Given the description of an element on the screen output the (x, y) to click on. 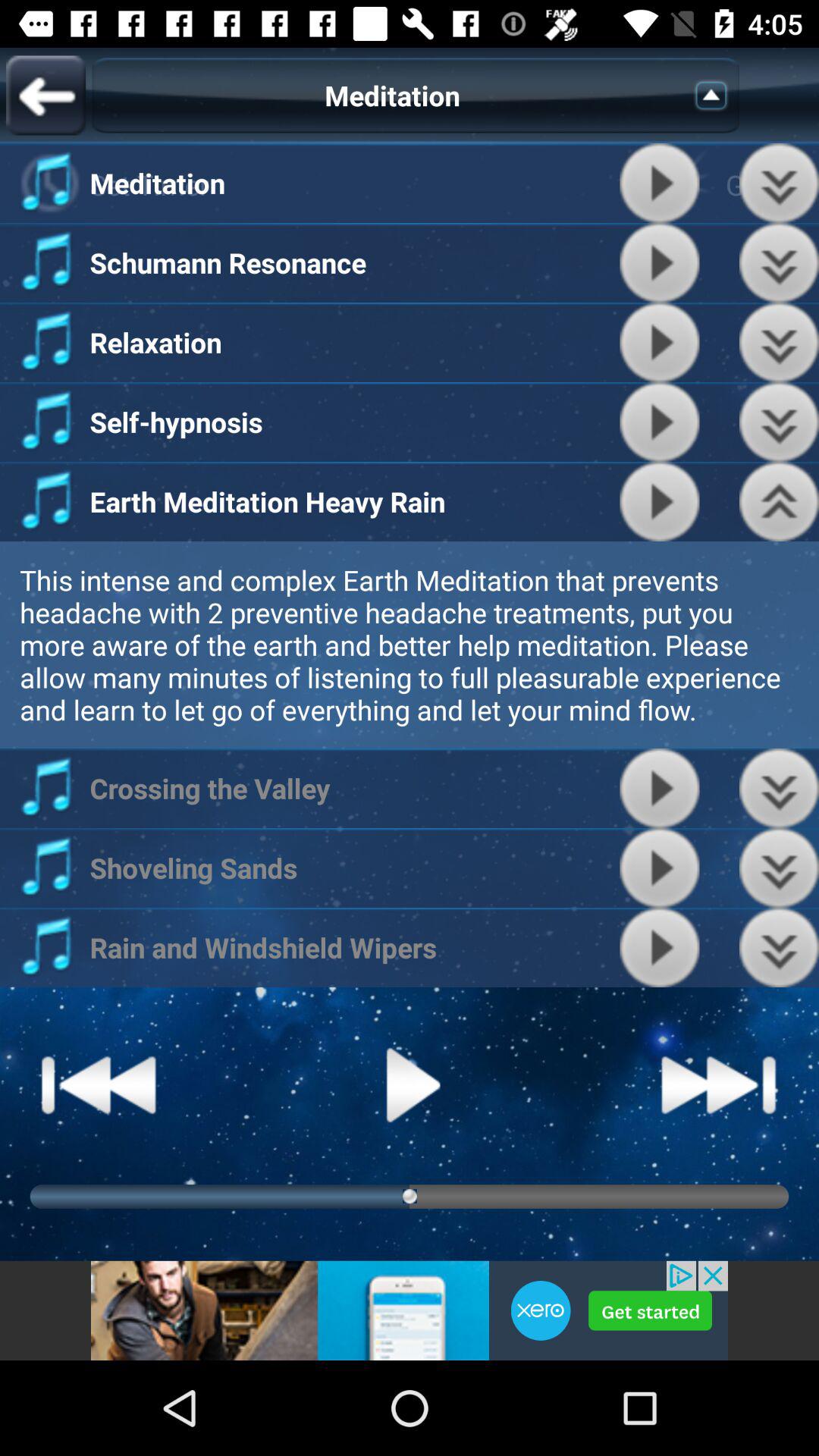
go to prvious (779, 262)
